Given the description of an element on the screen output the (x, y) to click on. 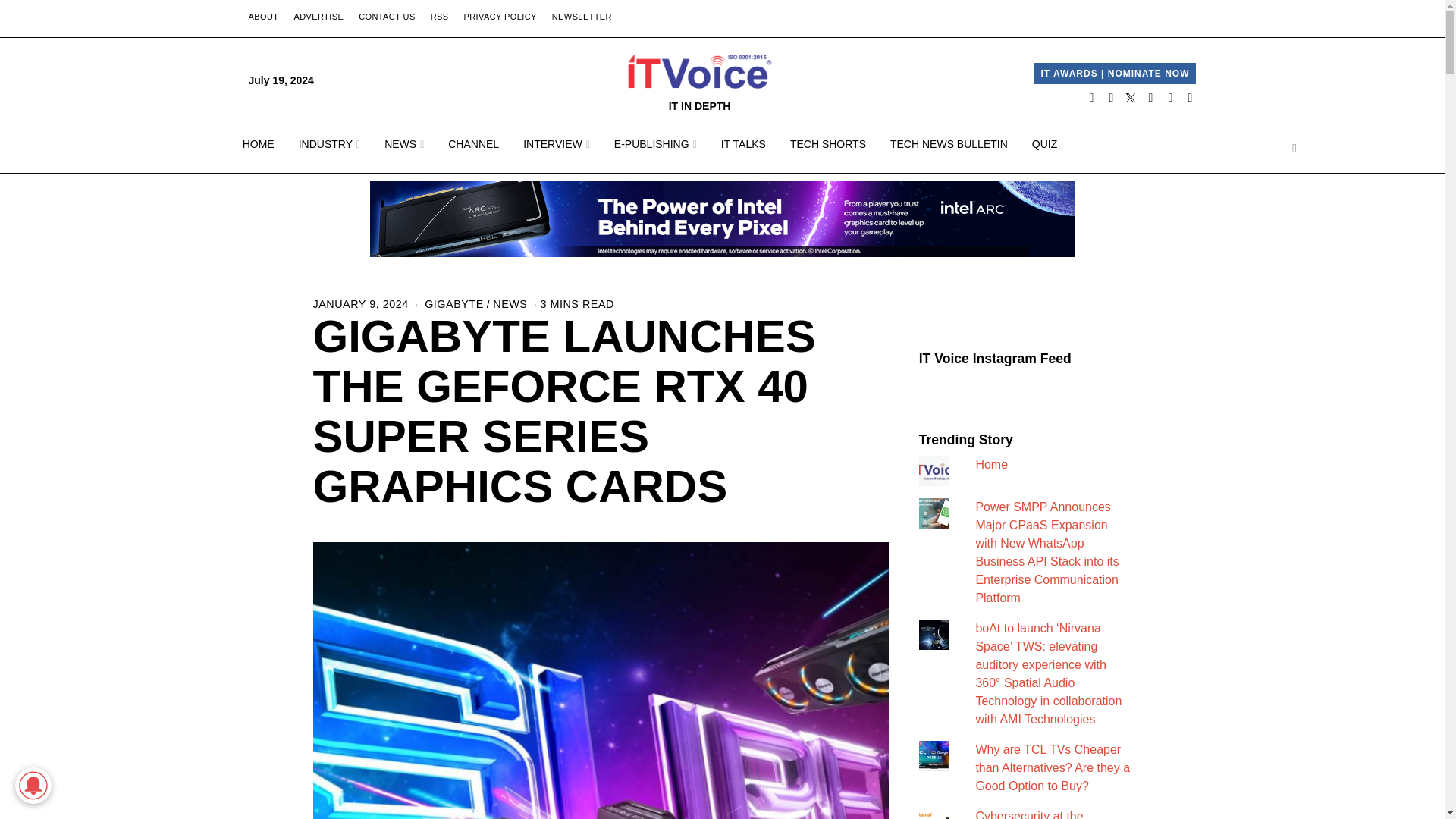
IT TALKS (743, 143)
PRIVACY POLICY (499, 16)
Go (1294, 148)
INTERVIEW (556, 143)
INDUSTRY (329, 143)
TECH SHORTS (827, 143)
TECH NEWS BULLETIN (948, 143)
IT IN DEPTH (700, 80)
ADVERTISE (317, 16)
NEWS (403, 143)
QUIZ (1044, 143)
RSS (440, 16)
E-PUBLISHING (655, 143)
NEWSLETTER (582, 16)
CHANNEL (473, 143)
